Given the description of an element on the screen output the (x, y) to click on. 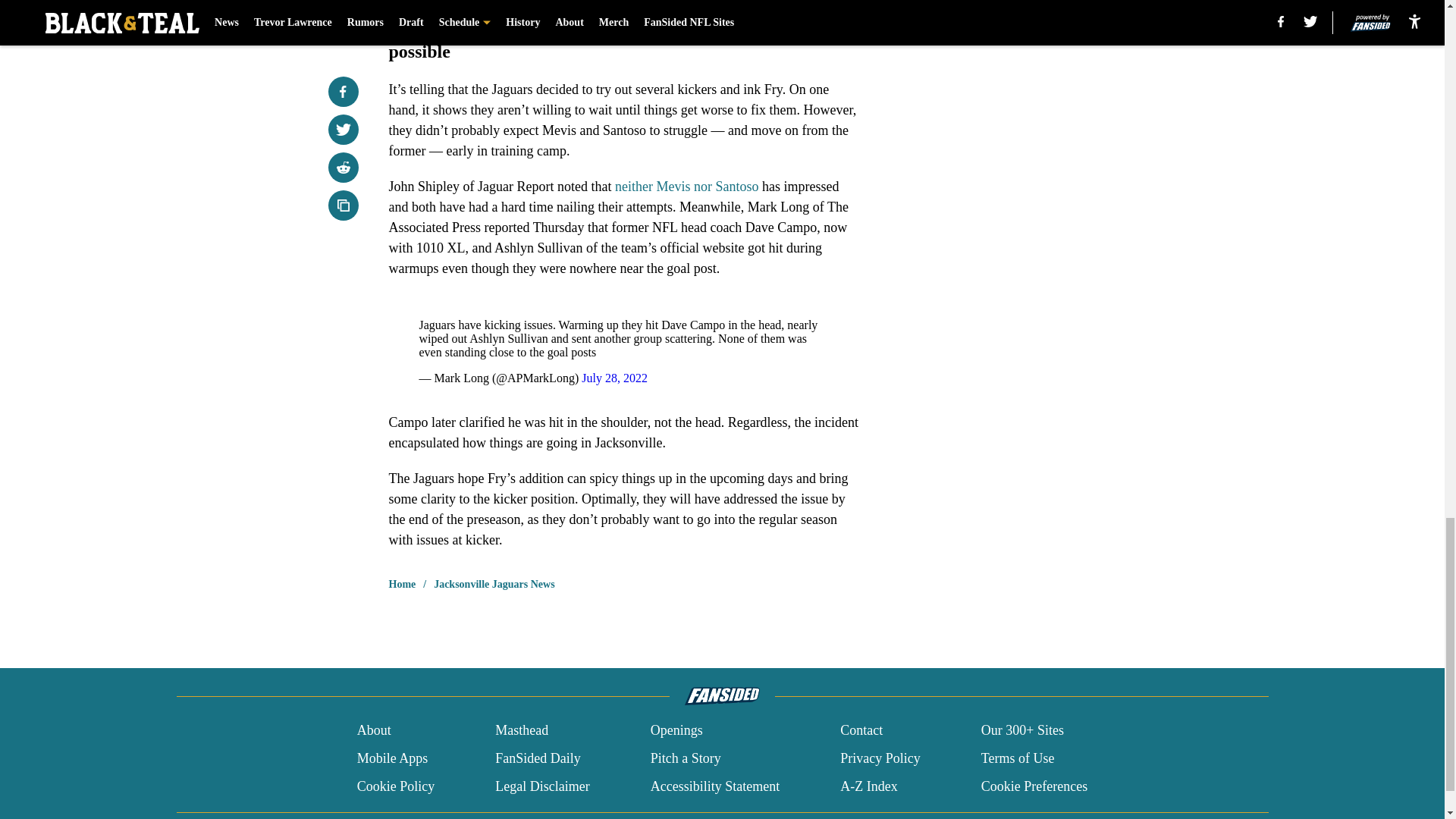
Jacksonville Jaguars News (493, 584)
Pitch a Story (685, 758)
Openings (676, 730)
About (373, 730)
FanSided Daily (537, 758)
Masthead (521, 730)
Home (401, 584)
Contact (861, 730)
Mobile Apps (392, 758)
Cookie Policy (395, 786)
July 28, 2022 (613, 377)
Legal Disclaimer (542, 786)
Privacy Policy (880, 758)
neither Mevis nor Santoso (686, 186)
Terms of Use (1017, 758)
